Given the description of an element on the screen output the (x, y) to click on. 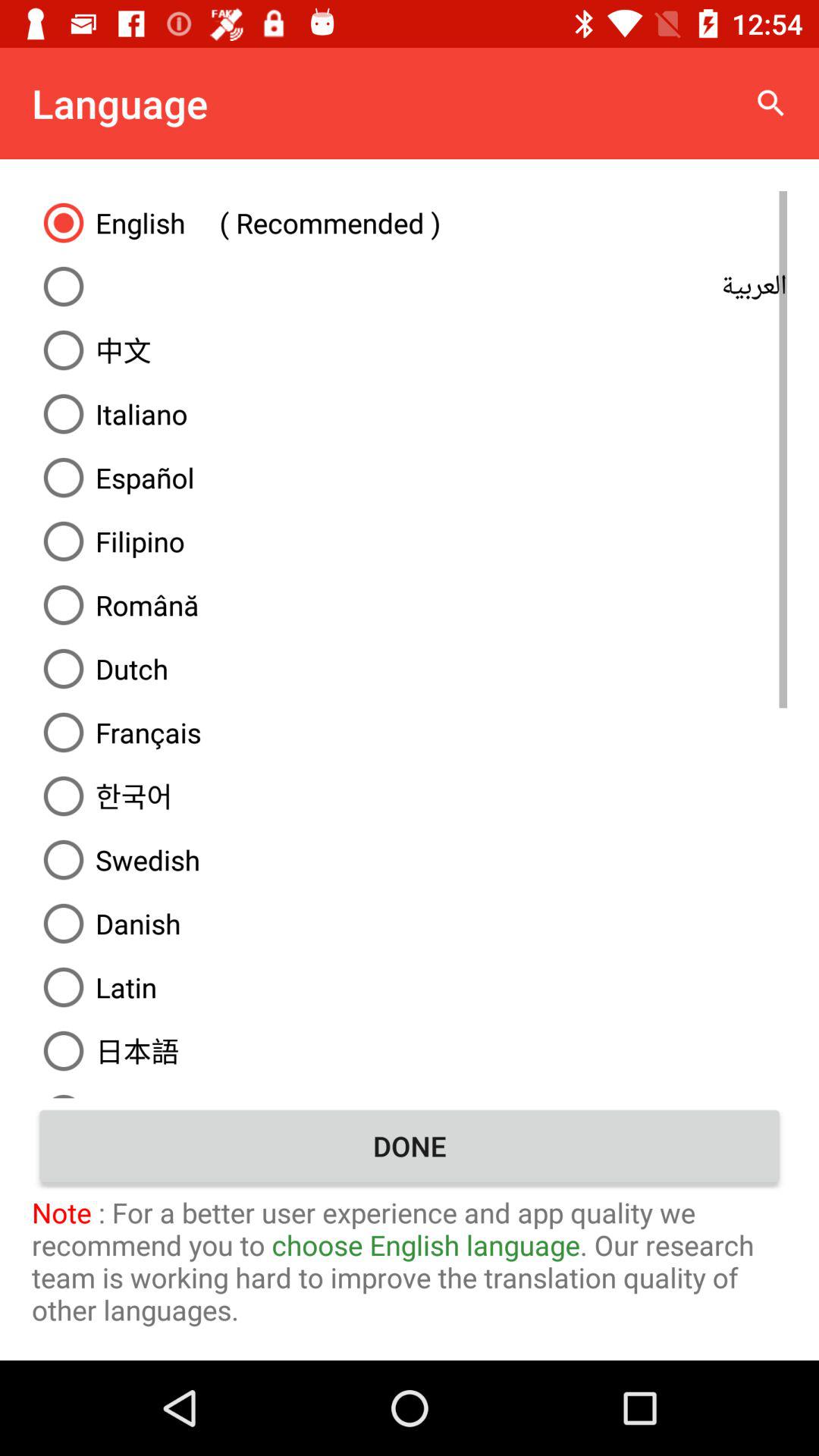
launch the item to the right of language app (771, 103)
